Given the description of an element on the screen output the (x, y) to click on. 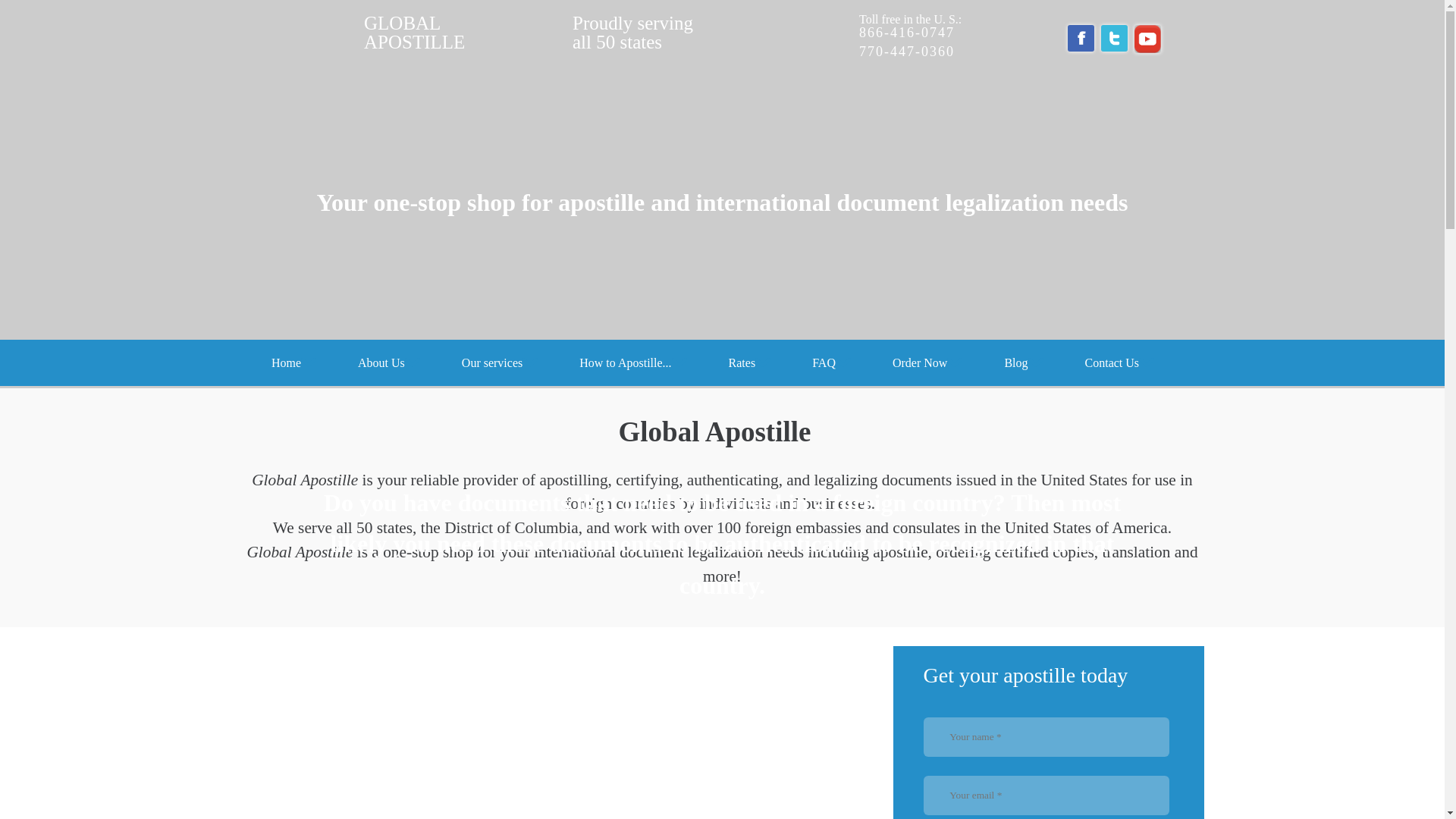
866-416-0747 (907, 32)
Order Now (468, 32)
About Us (927, 362)
Our services (388, 362)
Blog (498, 362)
Rates (1023, 362)
Home (750, 362)
Contact Us (293, 362)
FAQ (1120, 362)
